Given the description of an element on the screen output the (x, y) to click on. 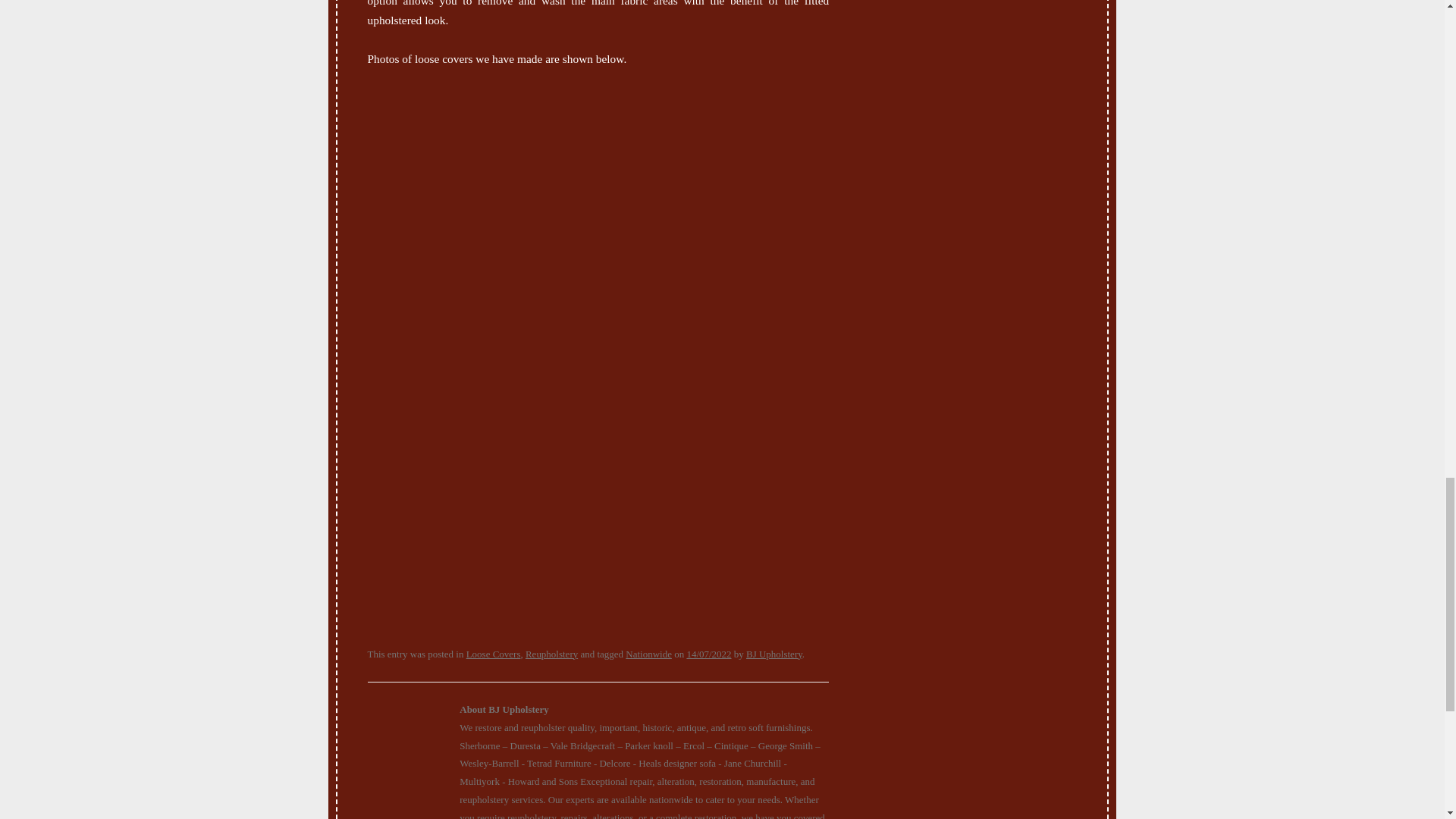
Nationwide (648, 654)
BJ Upholstery (773, 654)
Reupholstery (551, 654)
10:16 am (707, 654)
Loose Covers (493, 654)
View all posts by BJ Upholstery (773, 654)
